Given the description of an element on the screen output the (x, y) to click on. 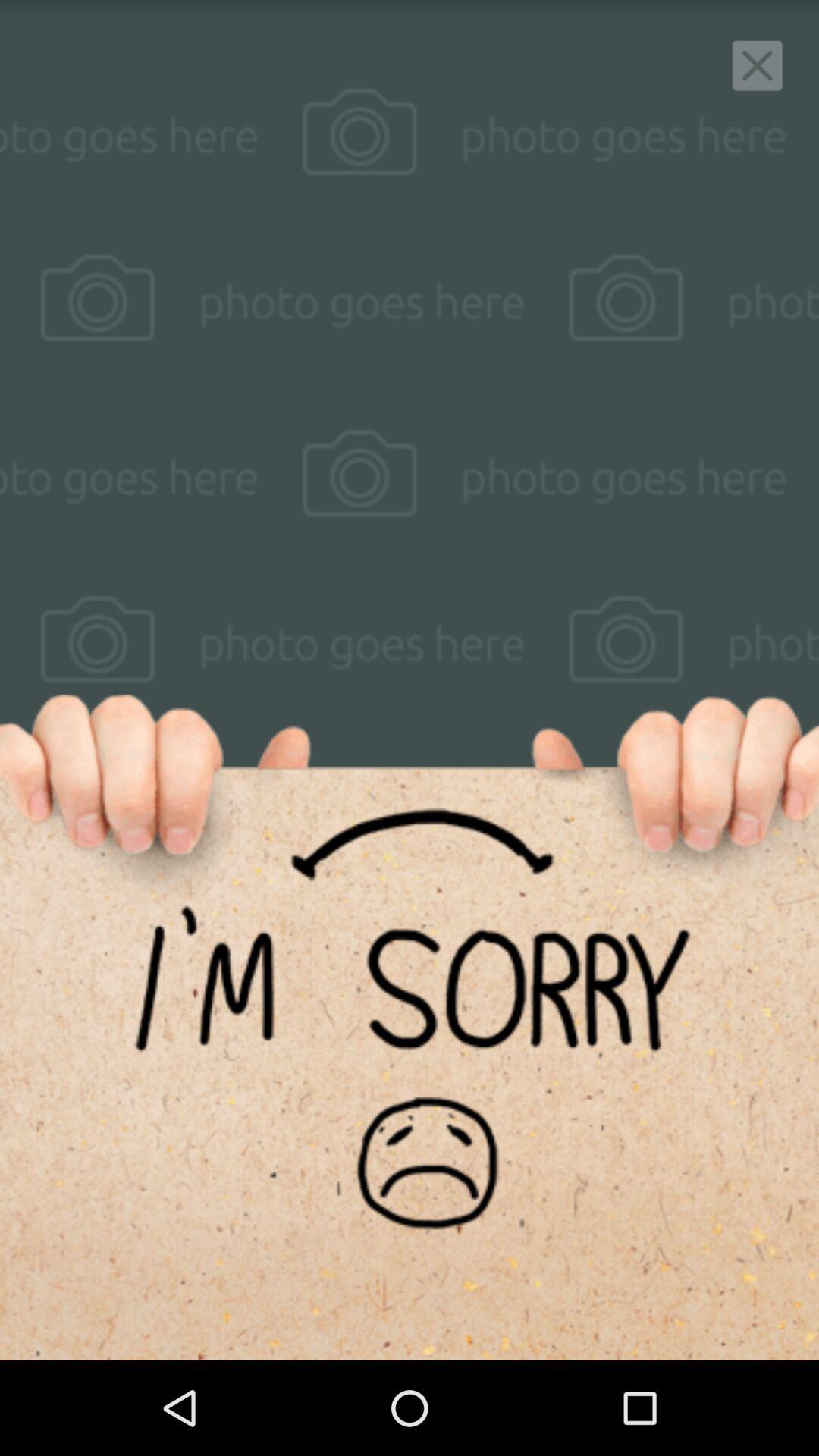
go to close oppsens (757, 65)
